Given the description of an element on the screen output the (x, y) to click on. 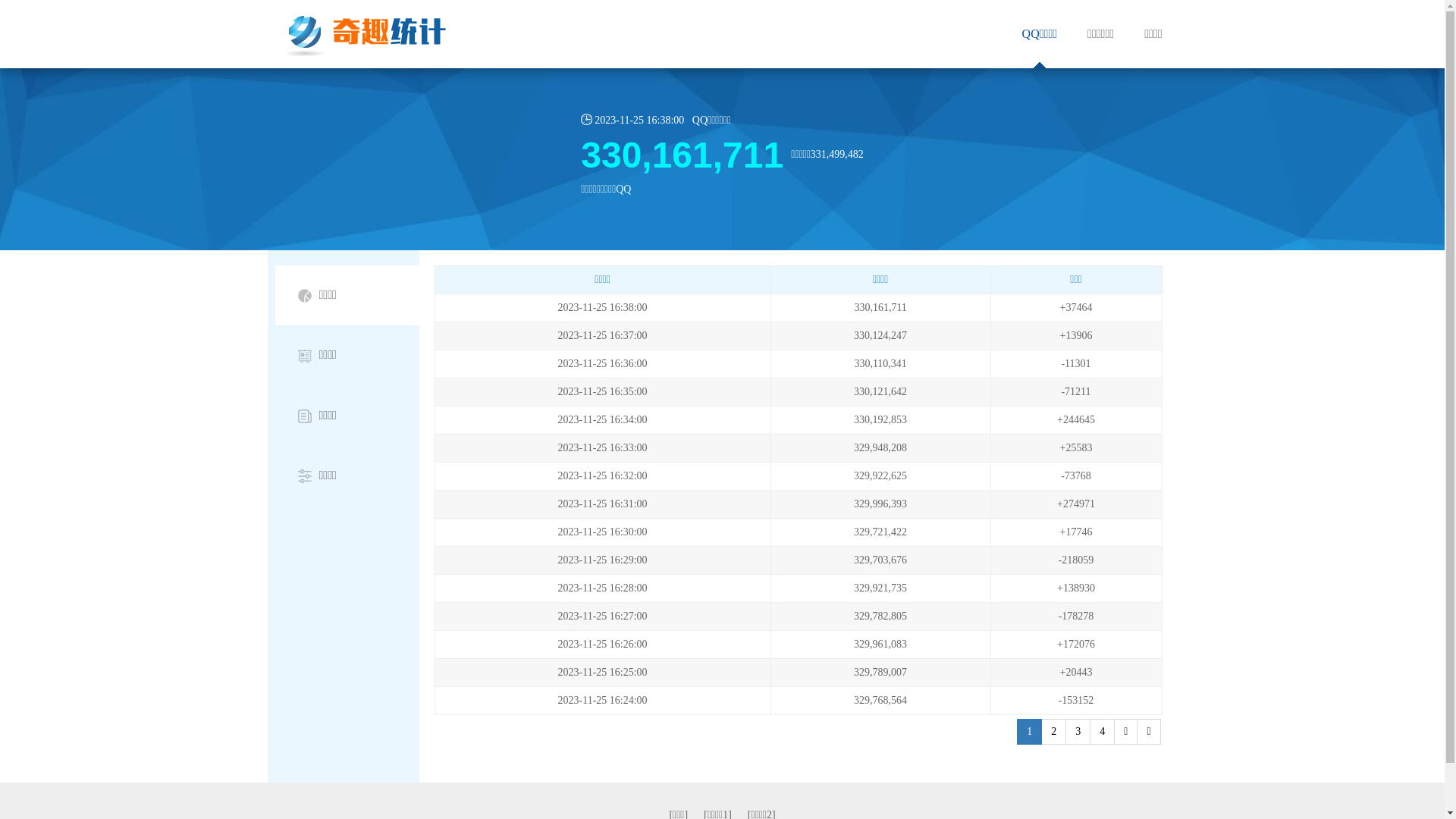
1 Element type: hover (1125, 731)
1 Element type: text (1028, 731)
2 Element type: text (1053, 731)
3 Element type: text (1077, 731)
4 Element type: hover (1148, 731)
4 Element type: text (1101, 731)
